Given the description of an element on the screen output the (x, y) to click on. 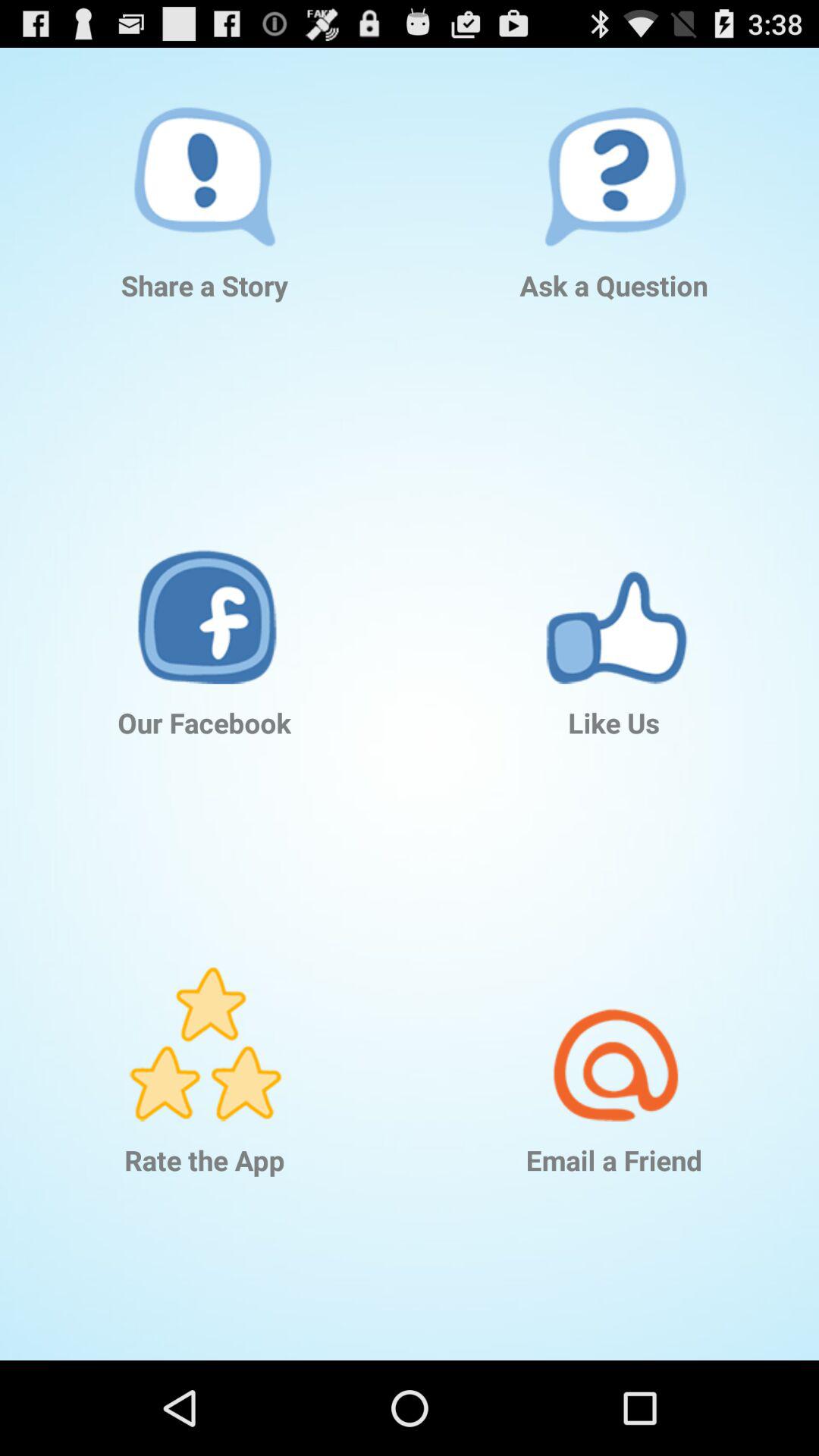
turn off the icon above our facebook icon (204, 584)
